Given the description of an element on the screen output the (x, y) to click on. 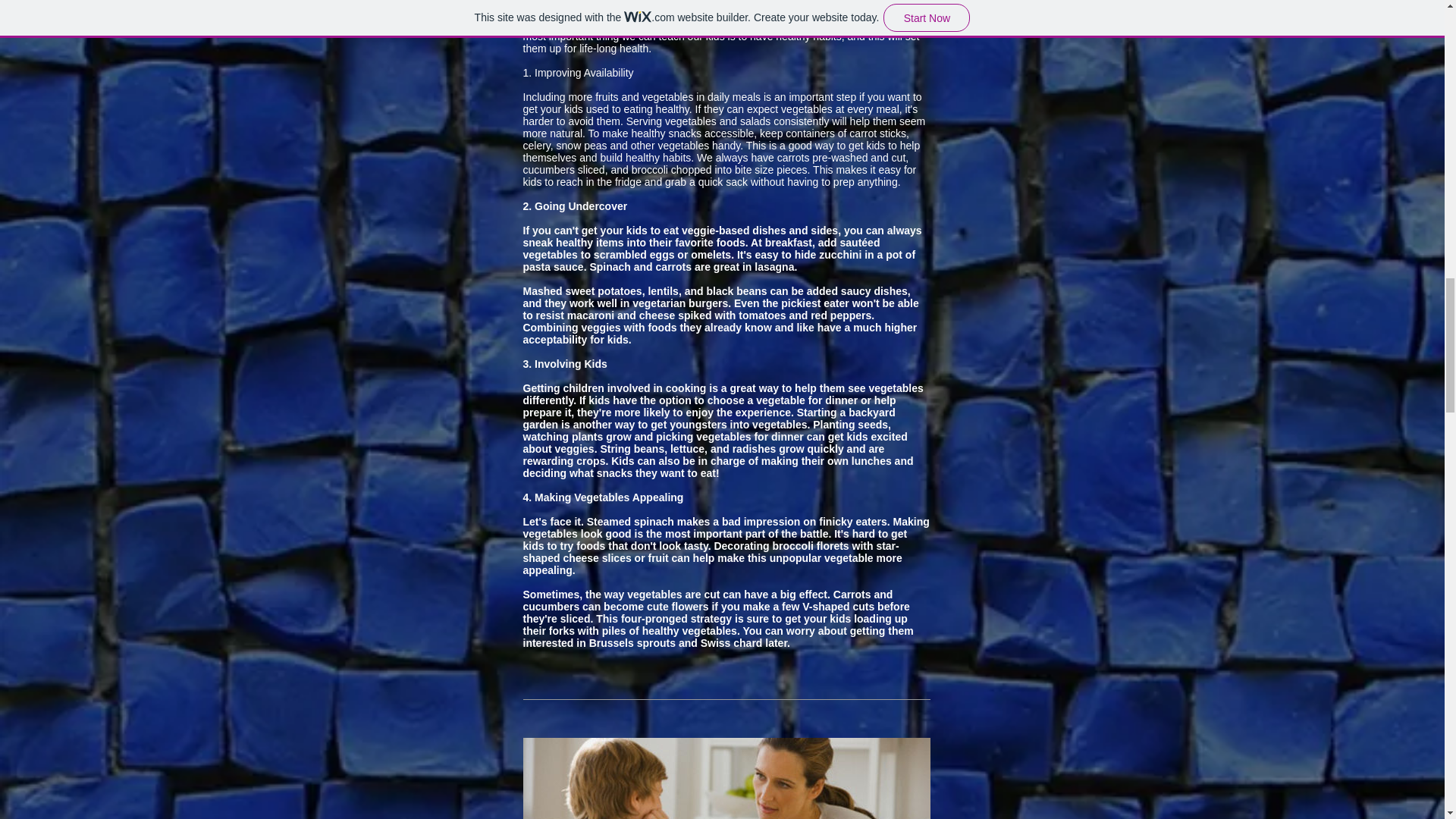
mom discipline disrespectful behavior children (726, 778)
